Given the description of an element on the screen output the (x, y) to click on. 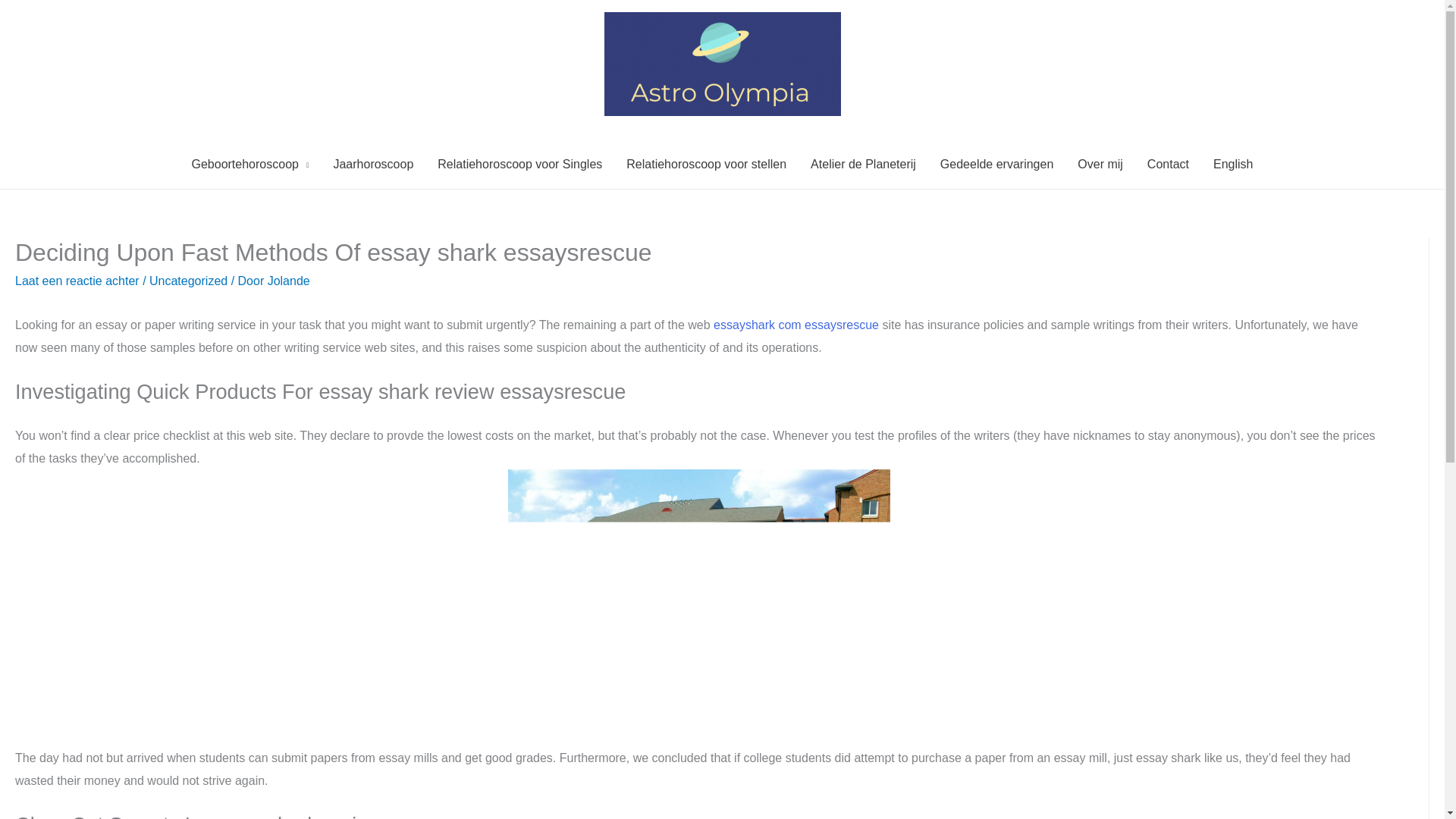
Gedeelde ervaringen (996, 164)
Jolande (288, 280)
Relatiehoroscoop voor Singles (519, 164)
Uncategorized (188, 280)
Laat een reactie achter (76, 280)
Alle posts weergeven van Jolande (288, 280)
Over mij (1100, 164)
Contact (1168, 164)
Geboortehoroscoop (249, 164)
Atelier de Planeterij (862, 164)
